Given the description of an element on the screen output the (x, y) to click on. 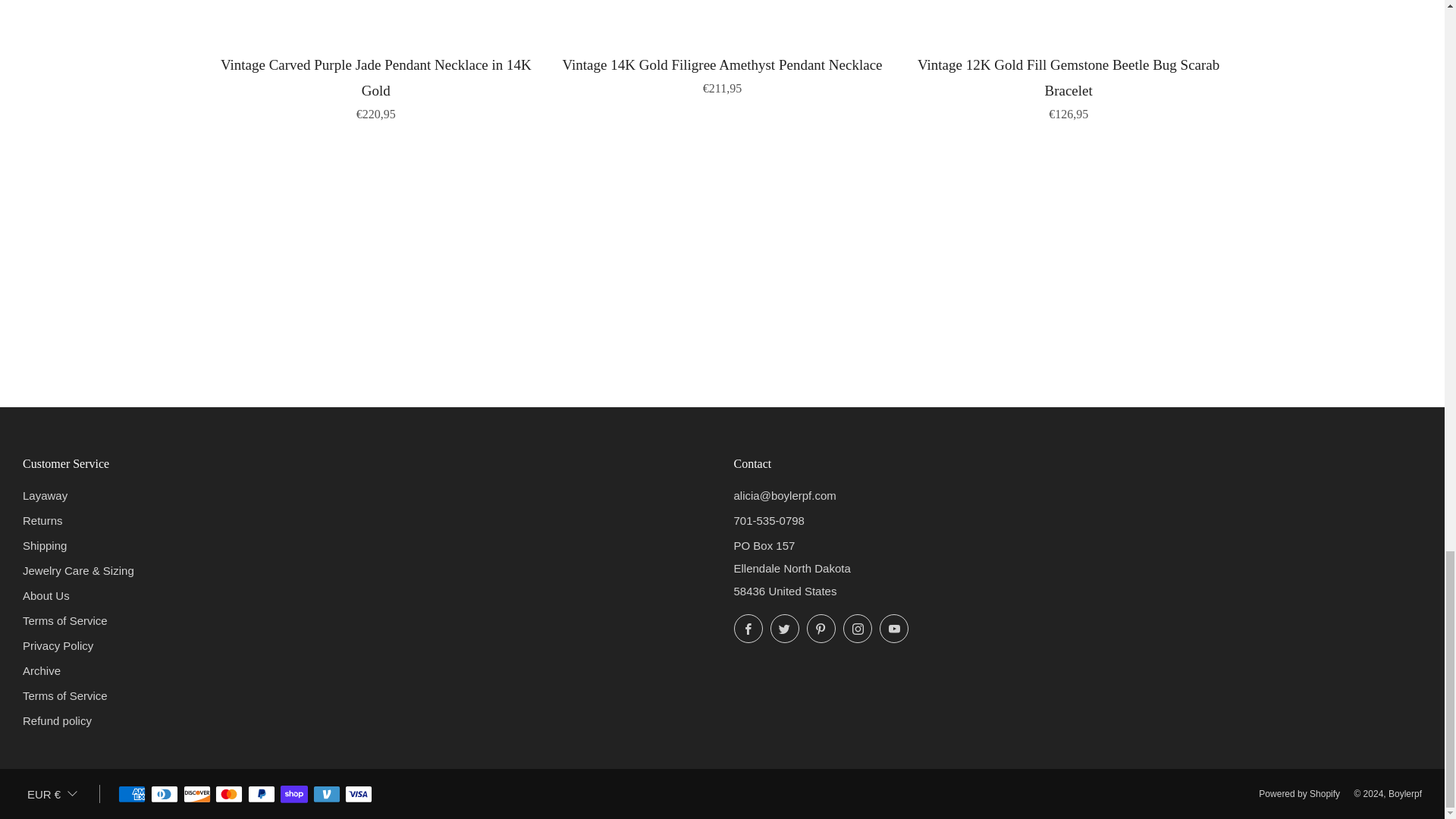
Vintage 12K Gold Fill Gemstone Beetle Bug Scarab Bracelet (1068, 86)
Vintage 14K Gold Filigree Amethyst Pendant Necklace (721, 73)
Vintage Carved Purple Jade Pendant Necklace in 14K Gold (376, 86)
